Given the description of an element on the screen output the (x, y) to click on. 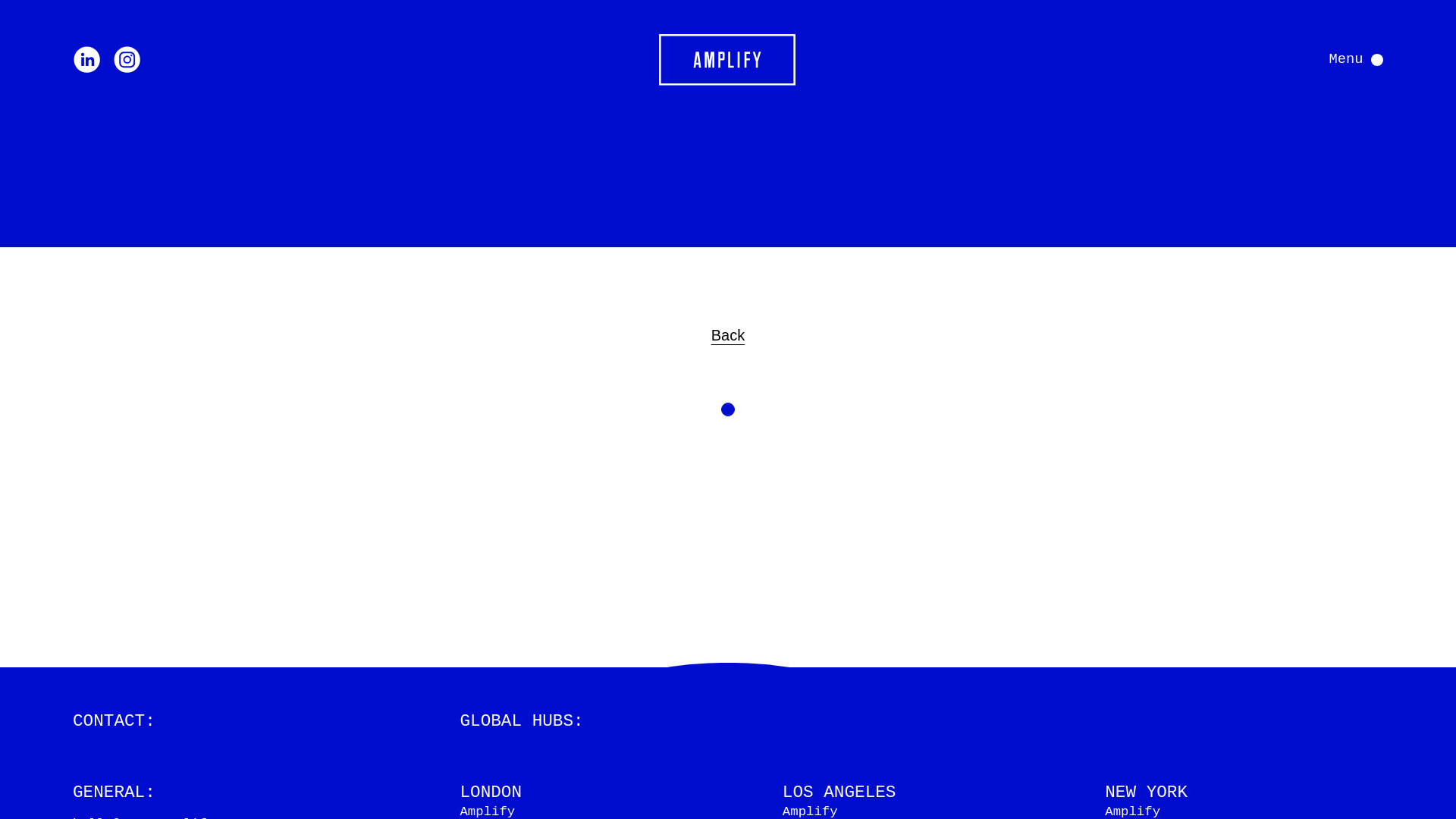
Back (727, 334)
